Given the description of an element on the screen output the (x, y) to click on. 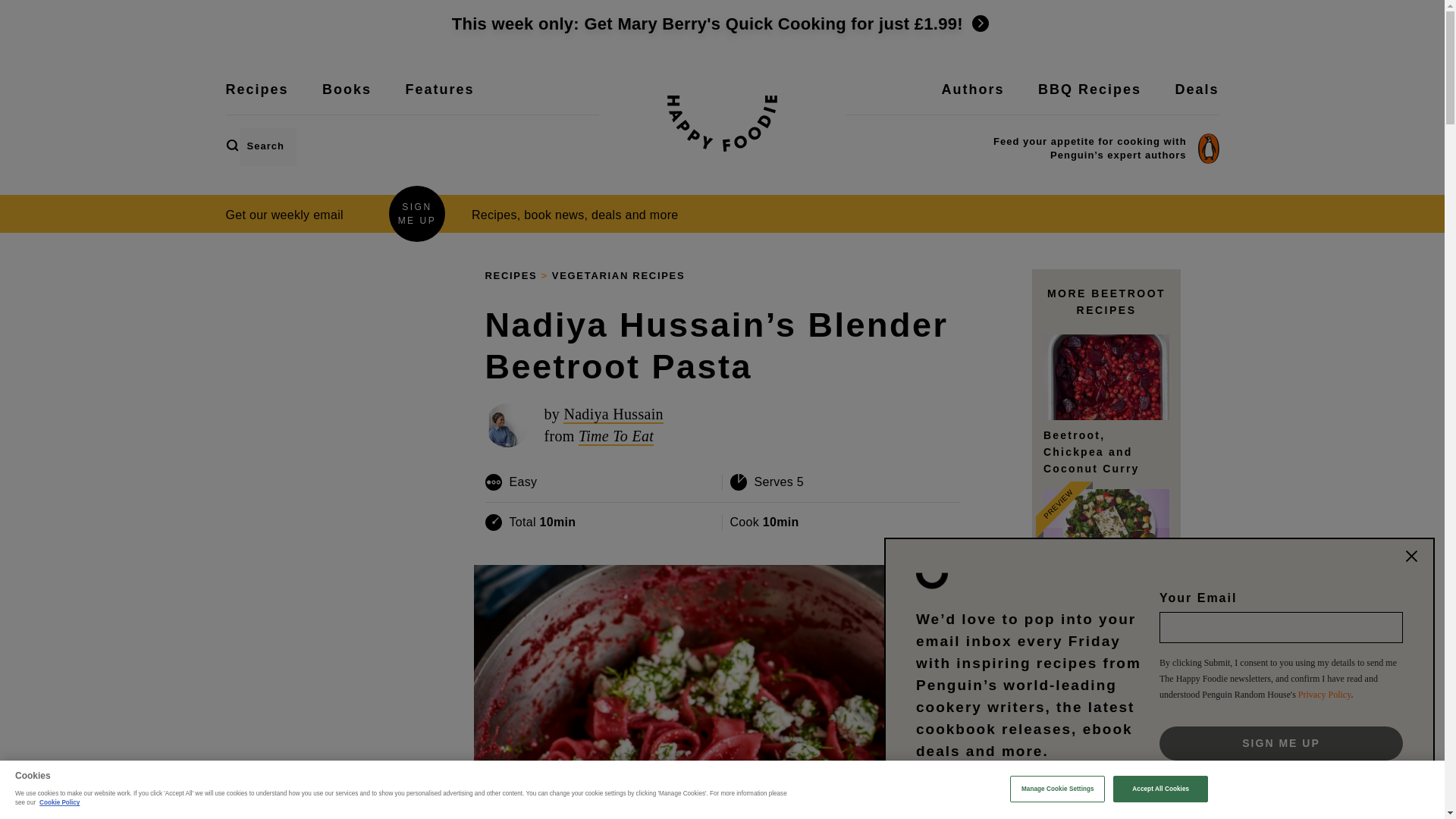
Features (439, 98)
Authors (973, 98)
BBQ Recipes (1089, 98)
Recipes (256, 98)
Books (346, 98)
Deals (1196, 98)
Sign me up (1280, 743)
